Given the description of an element on the screen output the (x, y) to click on. 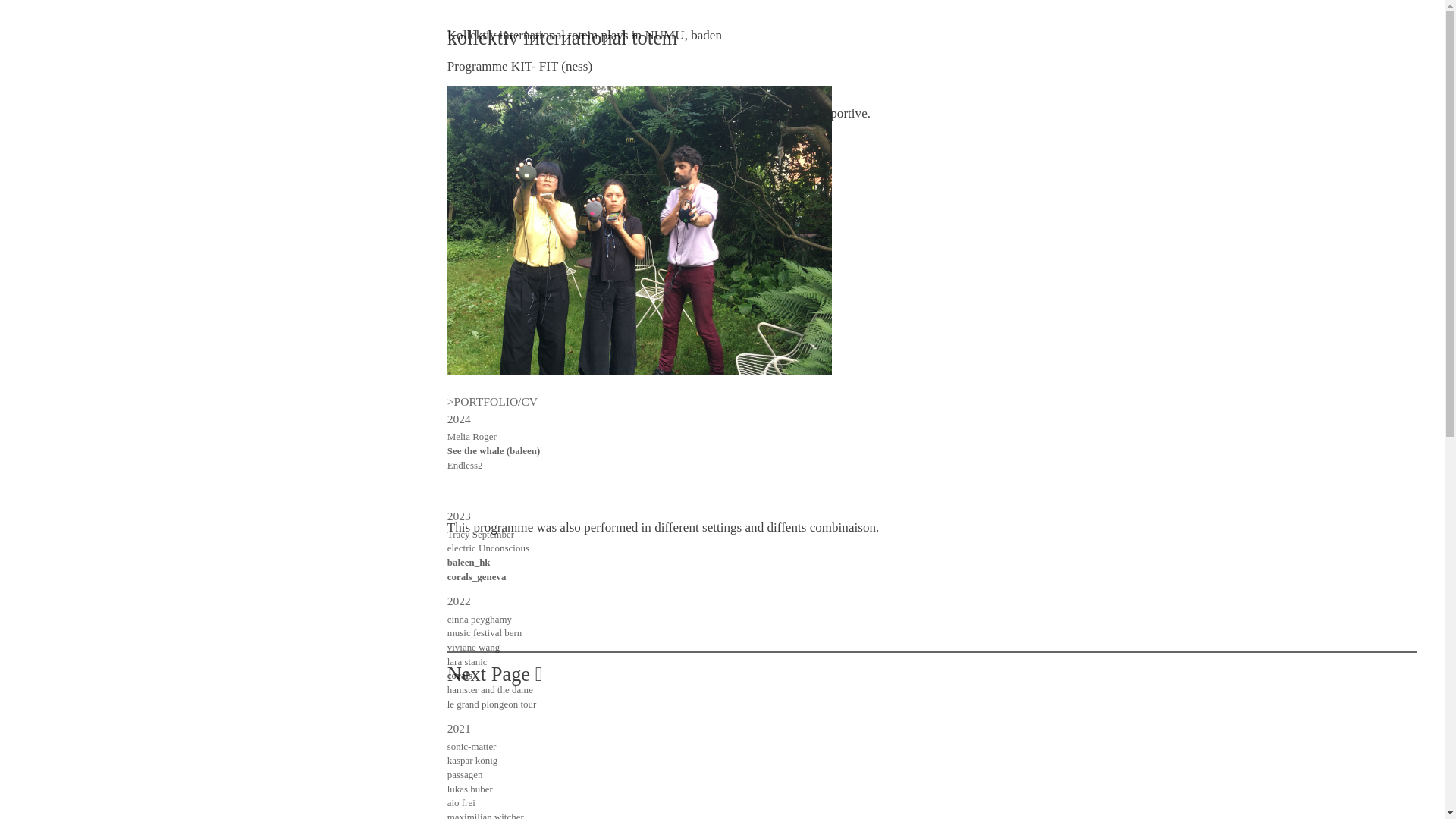
le grand plongeon tour (491, 704)
passagen (464, 774)
maximilian witcher (485, 815)
electric Unconscious (487, 547)
lara stanic (466, 661)
Melia Roger (471, 436)
Endless (461, 464)
racy September (482, 533)
corals (458, 674)
hamster and the dame (489, 689)
